Given the description of an element on the screen output the (x, y) to click on. 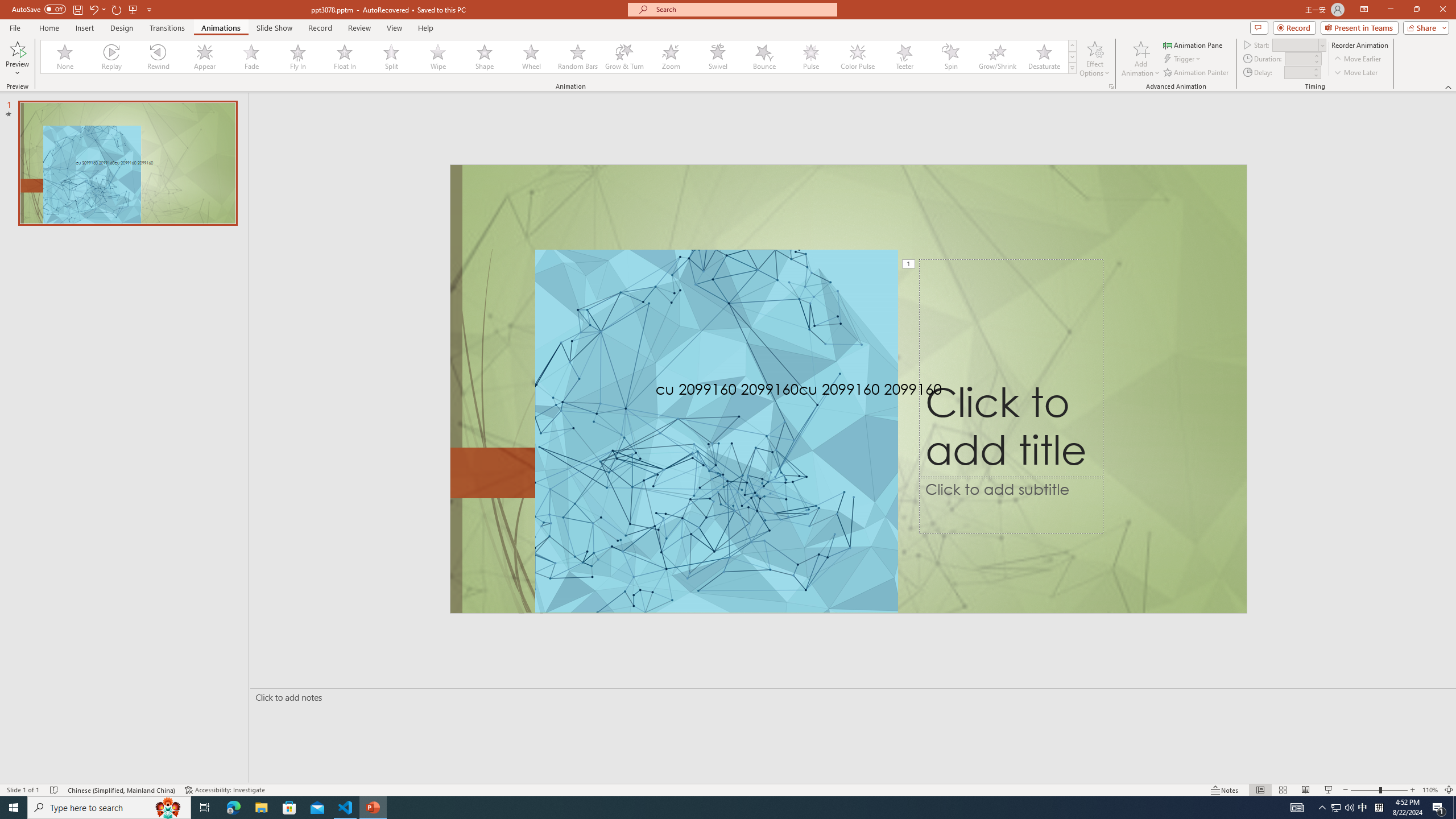
Pulse (810, 56)
Color Pulse (857, 56)
Trigger (1182, 58)
Animation Styles (1071, 67)
Float In (344, 56)
Desaturate (1043, 56)
